Given the description of an element on the screen output the (x, y) to click on. 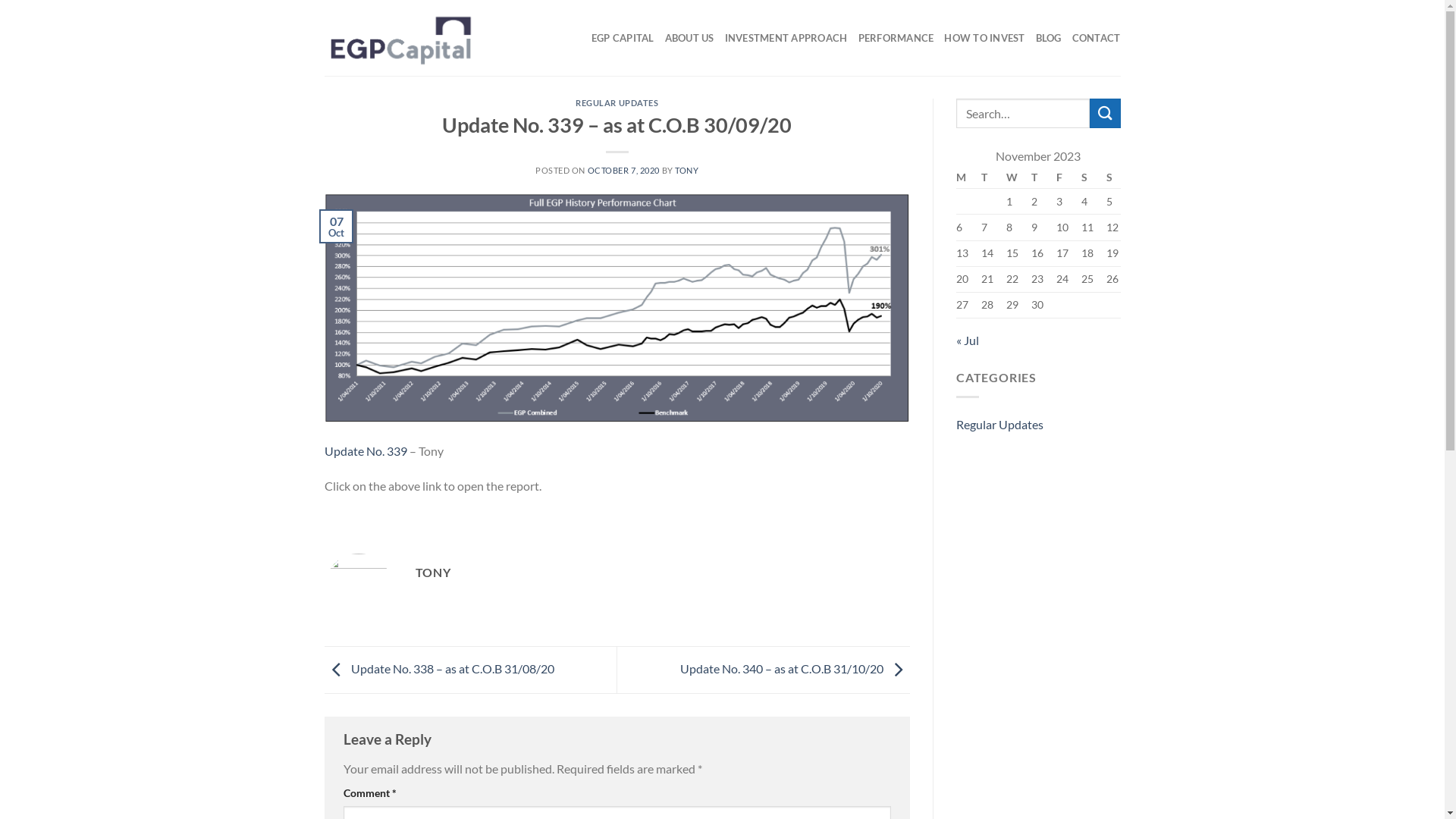
OCTOBER 7, 2020 Element type: text (623, 170)
BLOG Element type: text (1048, 37)
INVESTMENT APPROACH Element type: text (785, 37)
PERFORMANCE Element type: text (896, 37)
EGP CAPITAL Element type: text (622, 37)
TONY Element type: text (686, 170)
REGULAR UPDATES Element type: text (616, 102)
Regular Updates Element type: text (999, 424)
Update No. 339 Element type: text (365, 450)
CONTACT Element type: text (1096, 37)
HOW TO INVEST Element type: text (984, 37)
EGP Capital - No Management Fee Investing Element type: hover (400, 37)
ABOUT US Element type: text (689, 37)
